Given the description of an element on the screen output the (x, y) to click on. 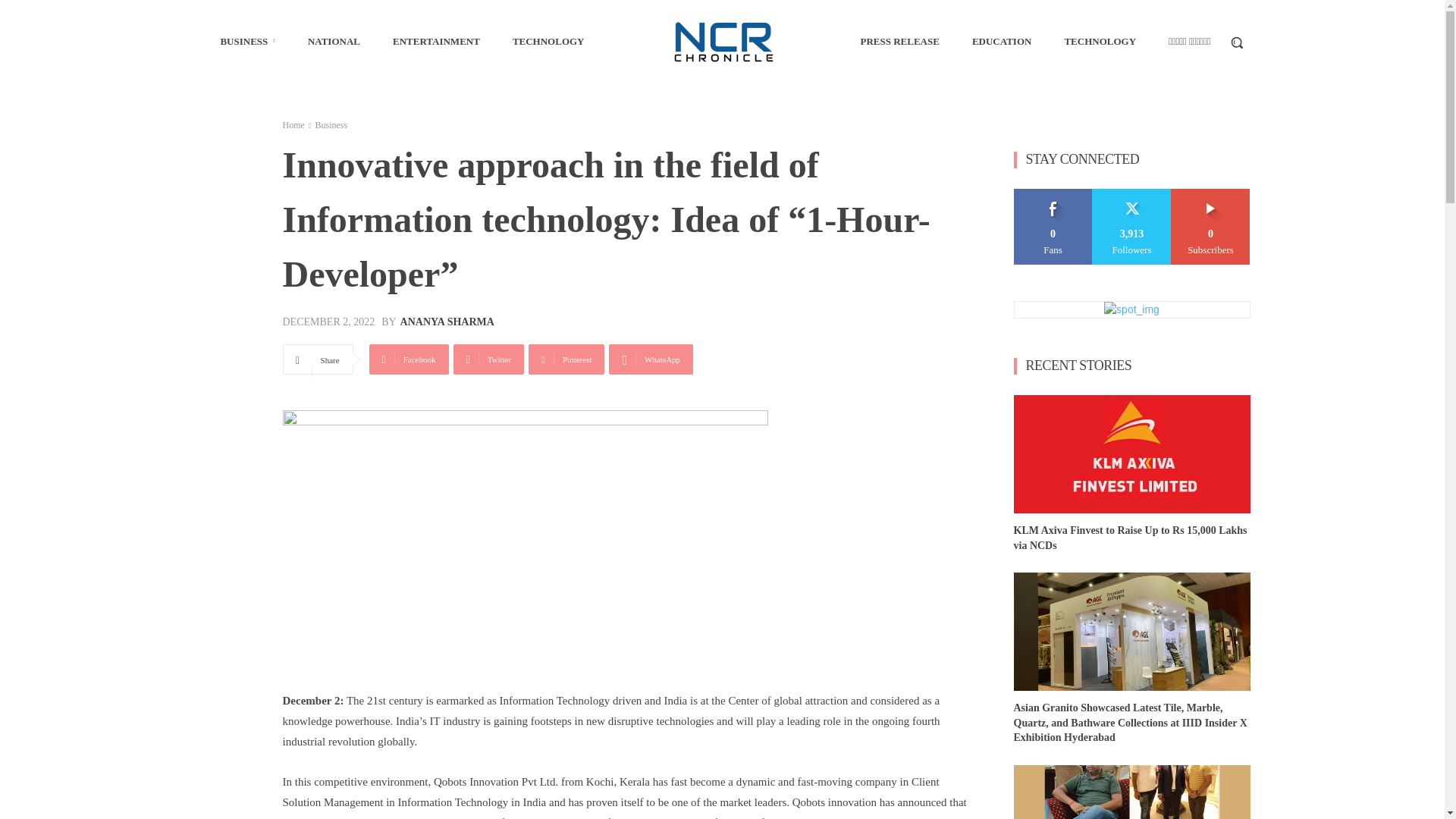
PRESS RELEASE (898, 40)
ENTERTAINMENT (435, 40)
EDUCATION (1001, 40)
BUSINESS (247, 40)
NATIONAL (334, 40)
TECHNOLOGY (1099, 40)
TECHNOLOGY (548, 40)
